Given the description of an element on the screen output the (x, y) to click on. 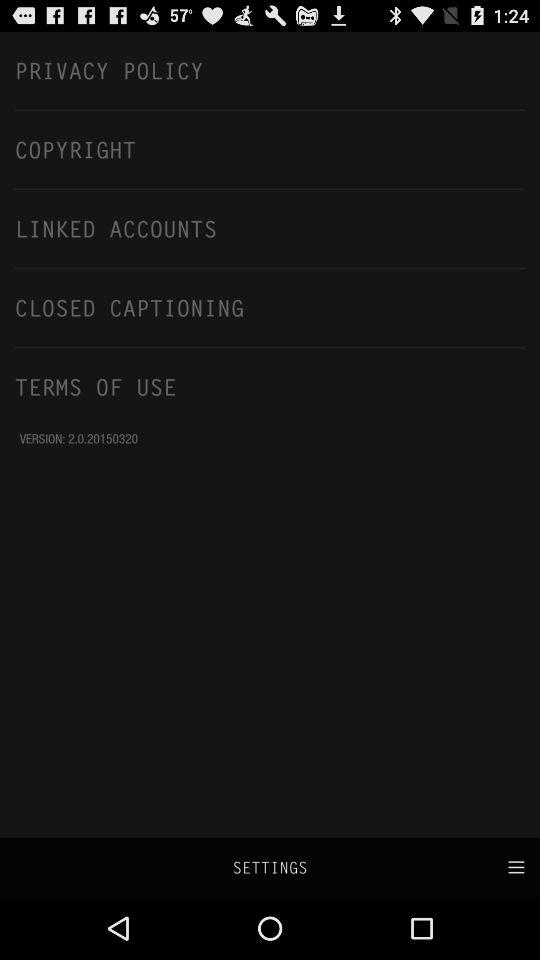
swipe until the terms of use item (270, 386)
